Given the description of an element on the screen output the (x, y) to click on. 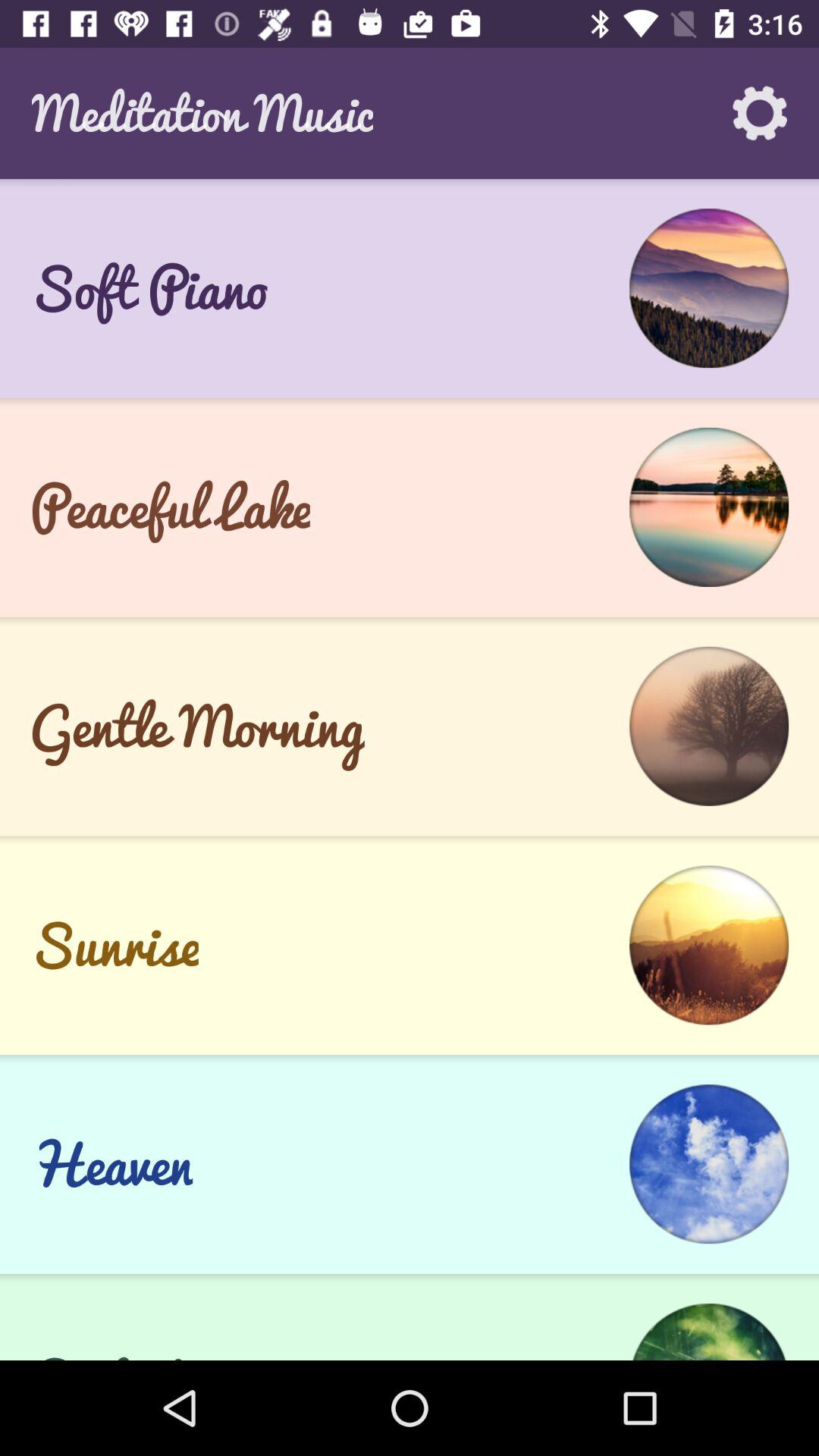
open the meditation music app (202, 112)
